Given the description of an element on the screen output the (x, y) to click on. 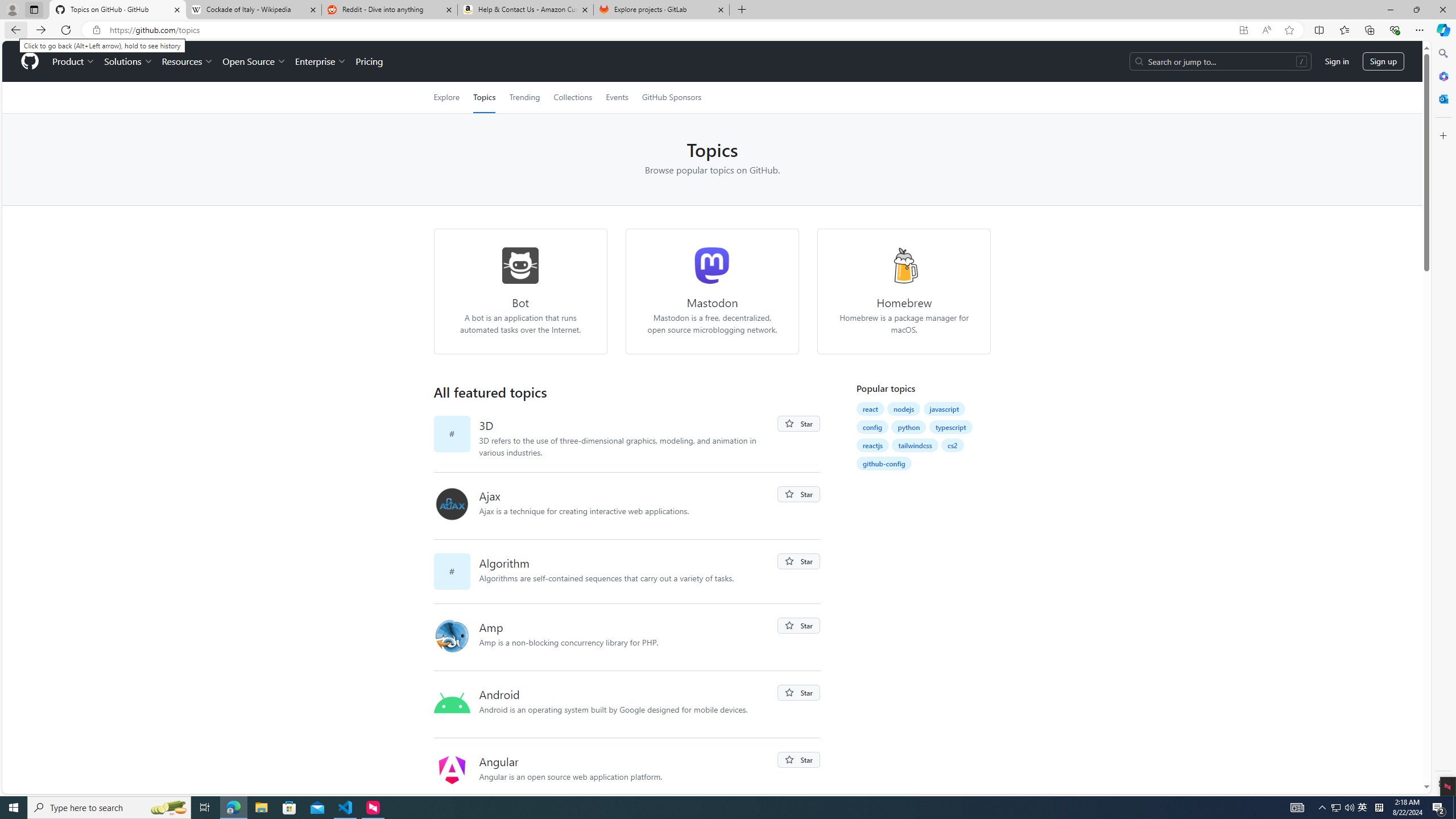
nodejs (903, 409)
Solutions (128, 60)
tailwindcss (915, 445)
Angular Angular is an open source web application platform. (628, 771)
GitHub Sponsors (671, 97)
reactjs (872, 445)
Product (74, 60)
Forward (40, 29)
Sign in (1336, 61)
# (456, 571)
github-config (883, 463)
